Given the description of an element on the screen output the (x, y) to click on. 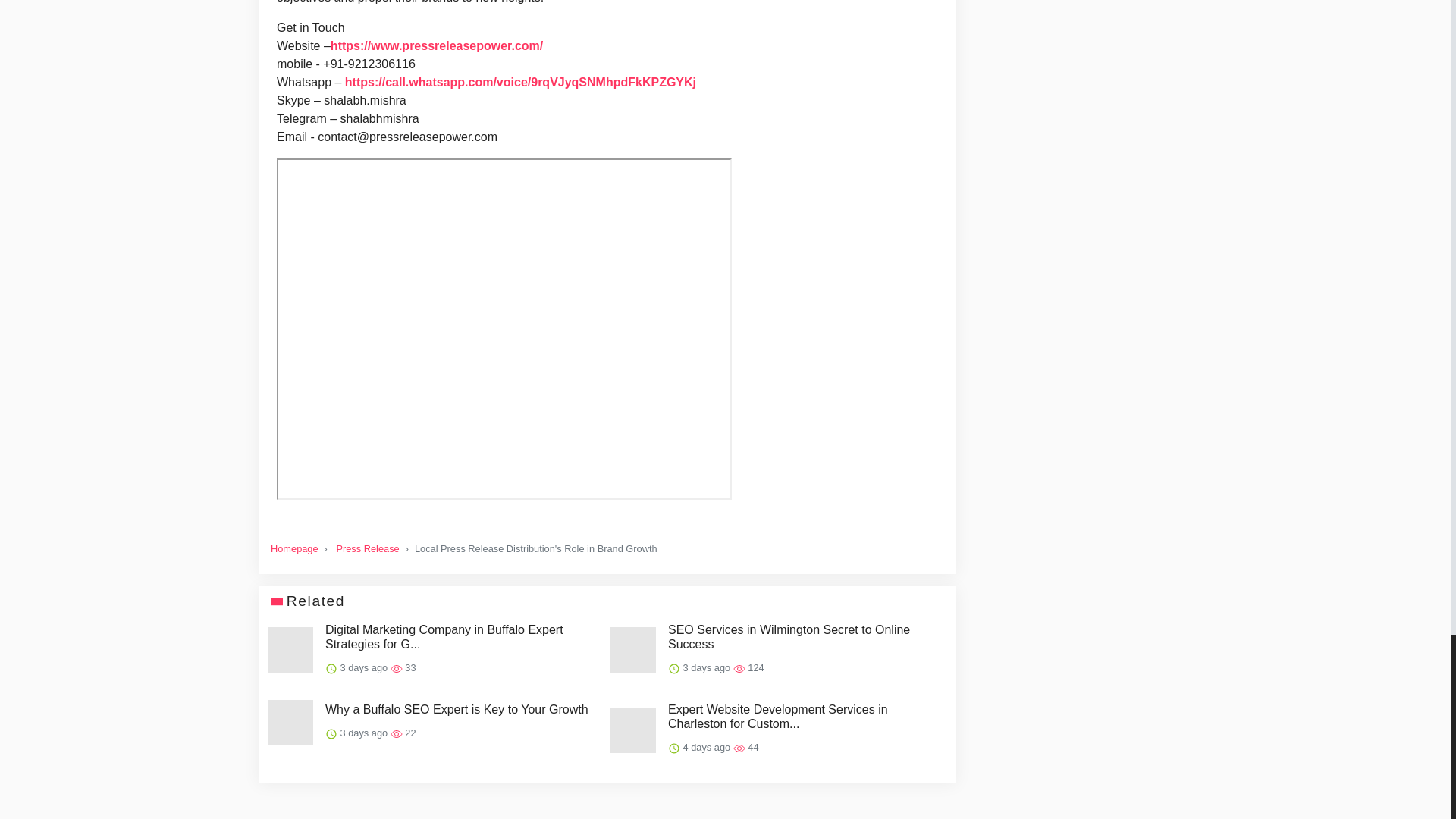
Why a Buffalo SEO Expert is Key to Your Growth (456, 708)
Why a Buffalo SEO Expert is Key to Your Growth (456, 708)
SEO Services in Wilmington Secret to Online Success (804, 636)
Homepage (294, 548)
SEO Services in Wilmington Secret to Online Success (804, 636)
Press Release (367, 548)
